Given the description of an element on the screen output the (x, y) to click on. 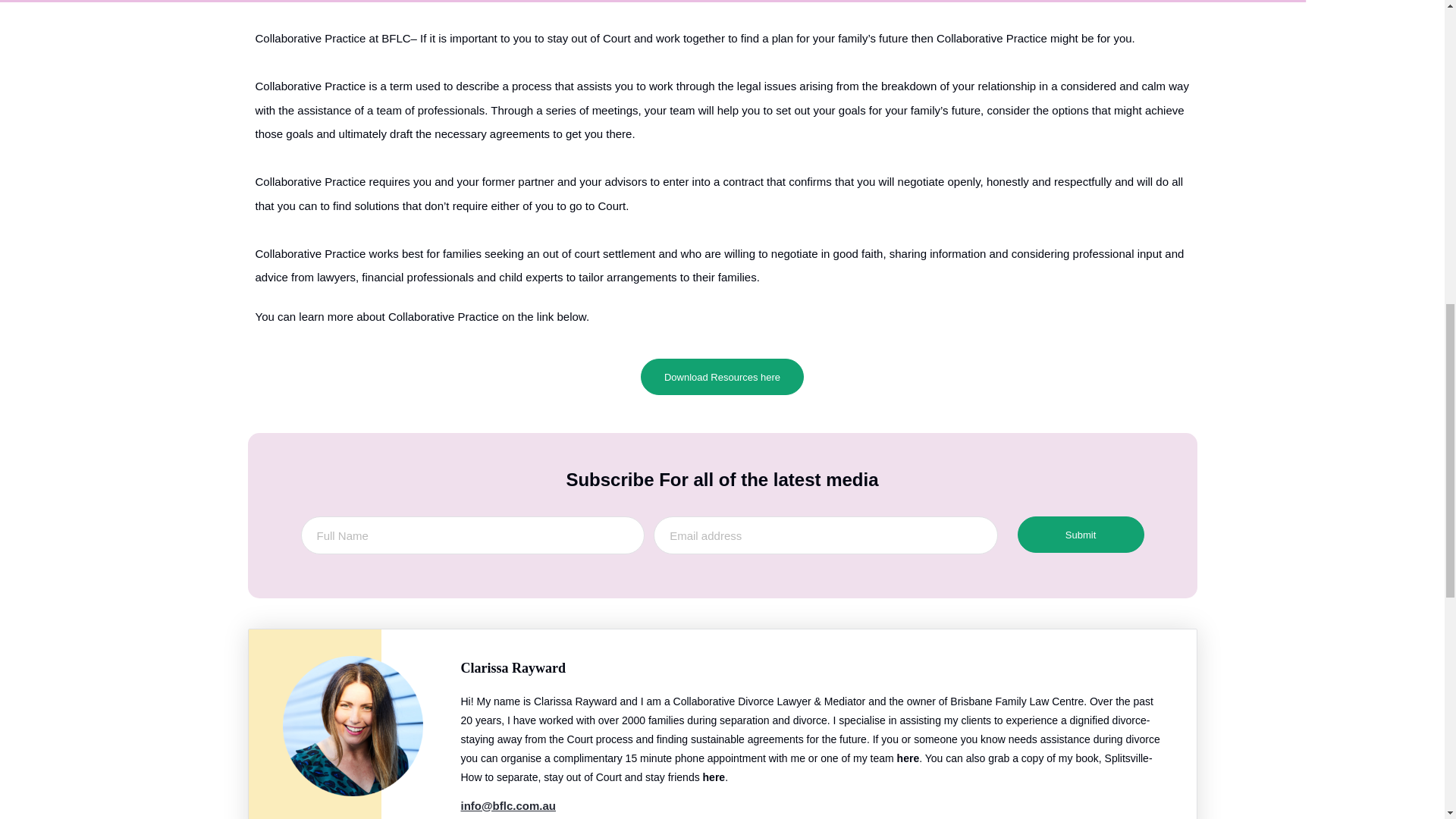
here (908, 758)
Submit (1080, 534)
here (714, 776)
Submit (1080, 534)
Download Resources here (721, 376)
